Given the description of an element on the screen output the (x, y) to click on. 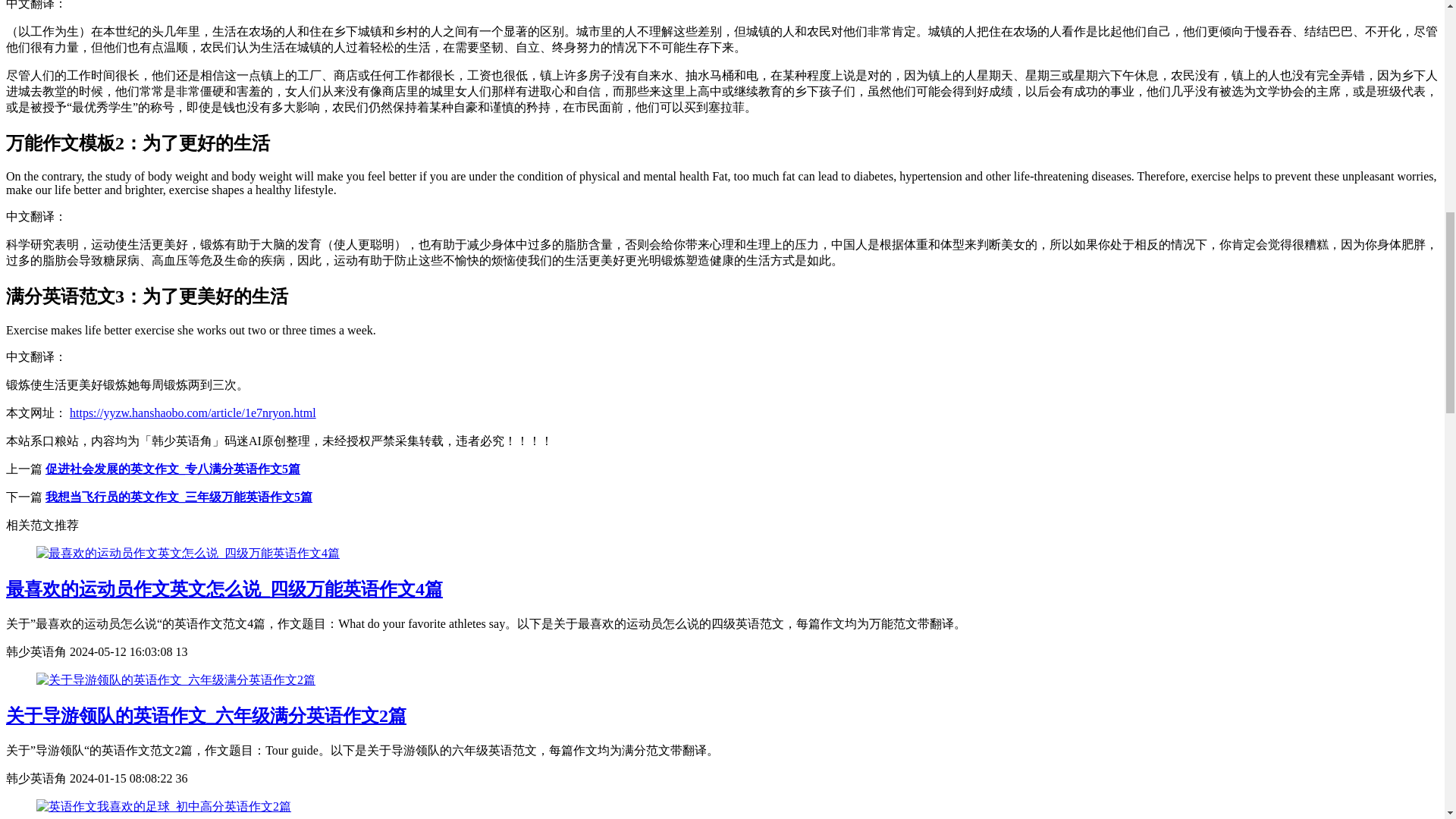
2024-01-15 08:08:22 (122, 778)
2024-05-12 16:03:08 (122, 651)
